Given the description of an element on the screen output the (x, y) to click on. 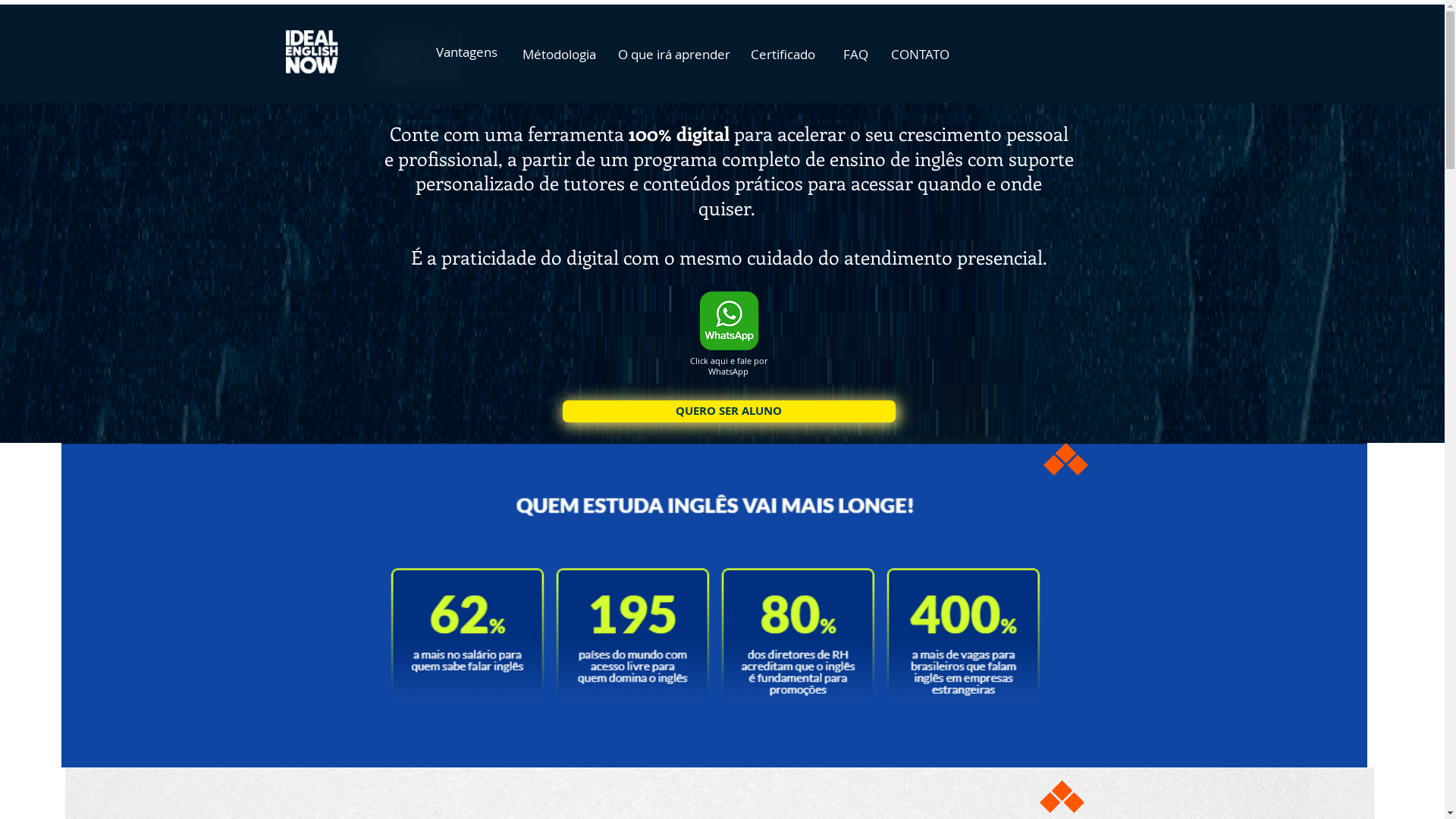
Certificado Element type: text (782, 53)
FAQ Element type: text (855, 53)
Vantagens Element type: text (465, 51)
QUERO SER ALUNO Element type: text (728, 411)
CONTATO Element type: text (920, 53)
